Given the description of an element on the screen output the (x, y) to click on. 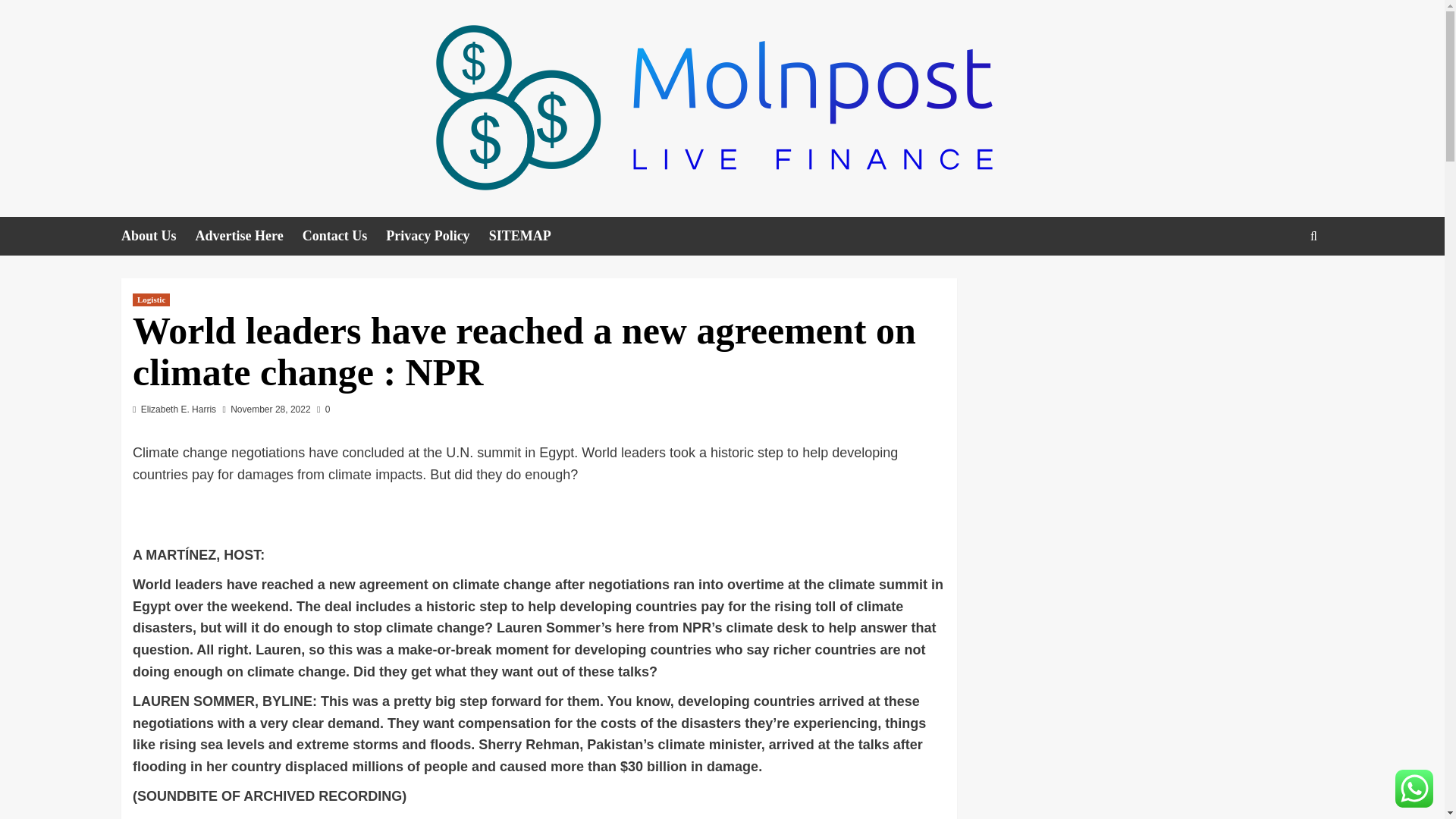
0 (323, 409)
About Us (157, 236)
November 28, 2022 (270, 409)
Contact Us (344, 236)
Privacy Policy (436, 236)
SITEMAP (529, 236)
Advertise Here (248, 236)
Elizabeth E. Harris (178, 409)
Search (1278, 282)
Logistic (151, 299)
